Given the description of an element on the screen output the (x, y) to click on. 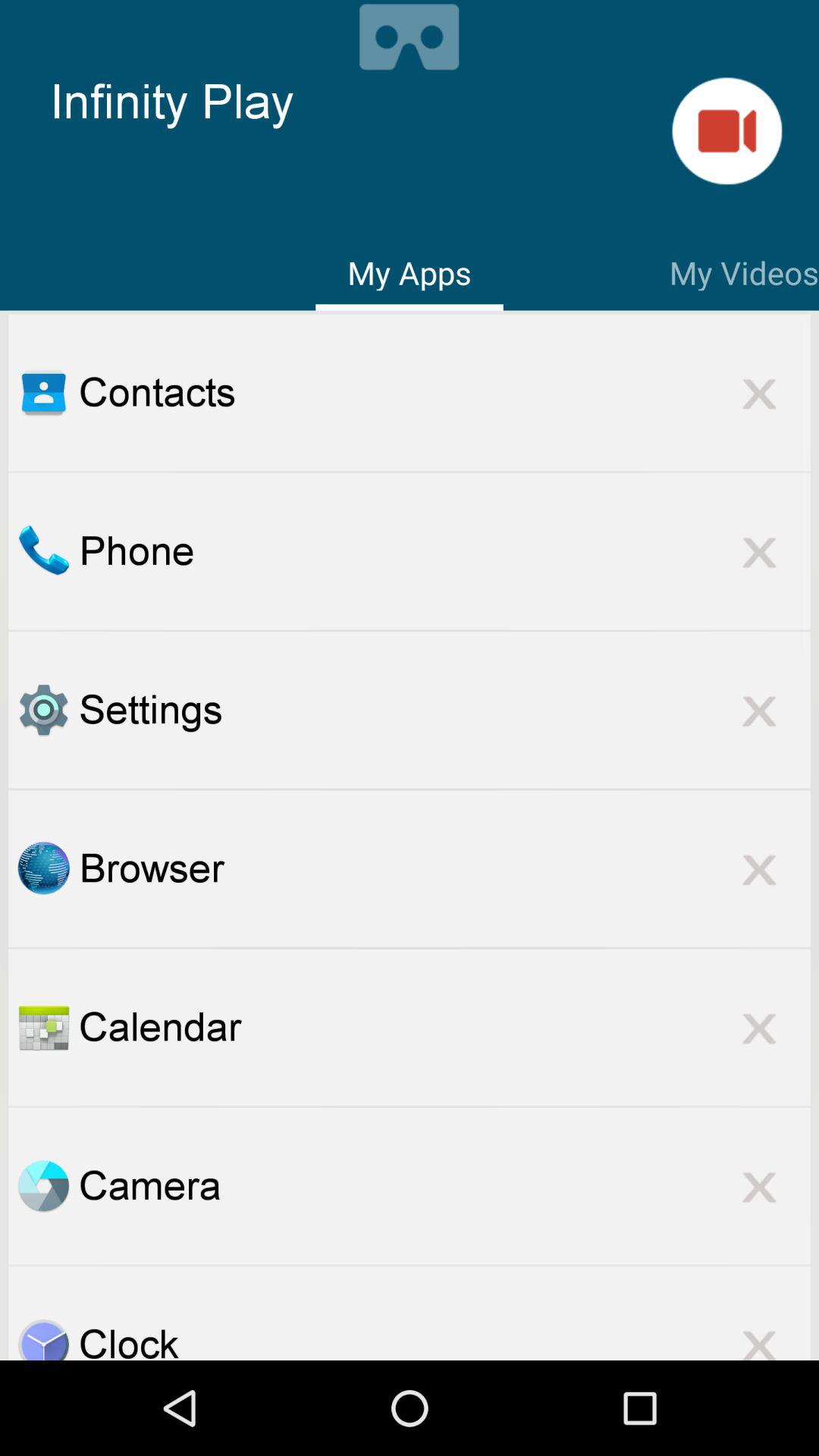
open browser (43, 868)
